Given the description of an element on the screen output the (x, y) to click on. 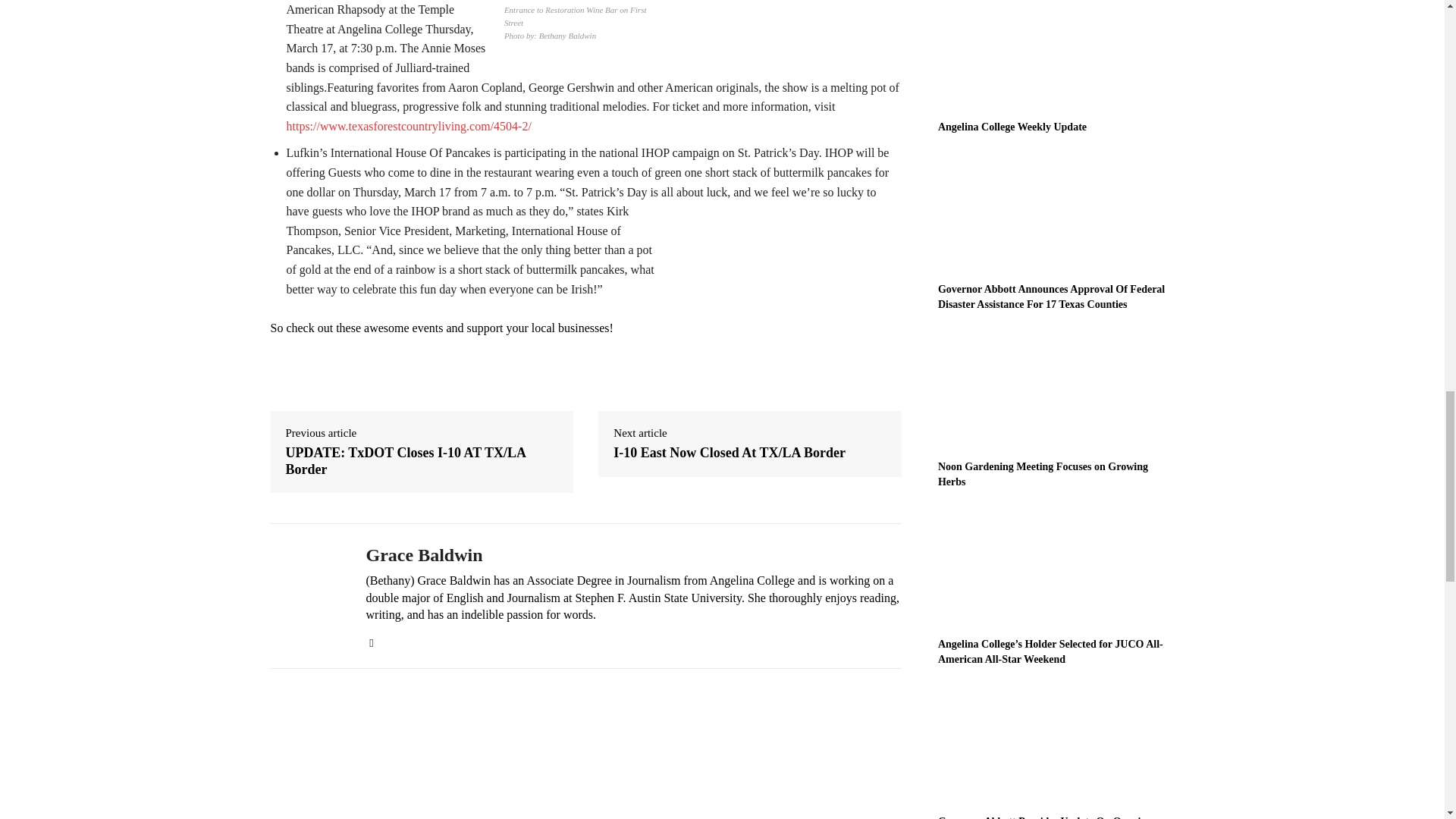
Angelina College Weekly Update (1055, 54)
Angelina College Weekly Update (1011, 126)
Facebook (371, 639)
